Given the description of an element on the screen output the (x, y) to click on. 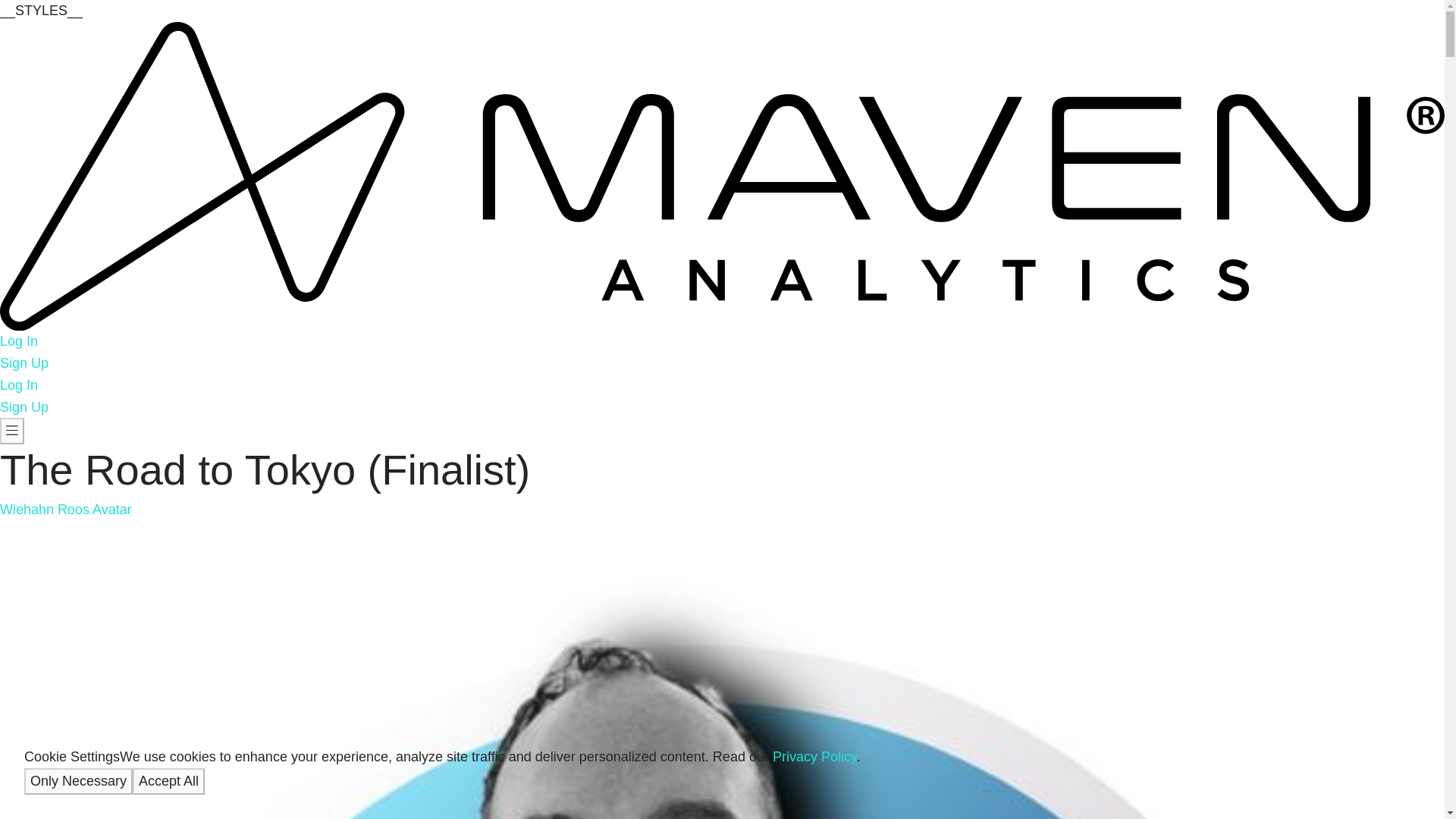
Log In (18, 385)
Log In (18, 340)
Sign Up (24, 363)
Sign Up (24, 406)
